Given the description of an element on the screen output the (x, y) to click on. 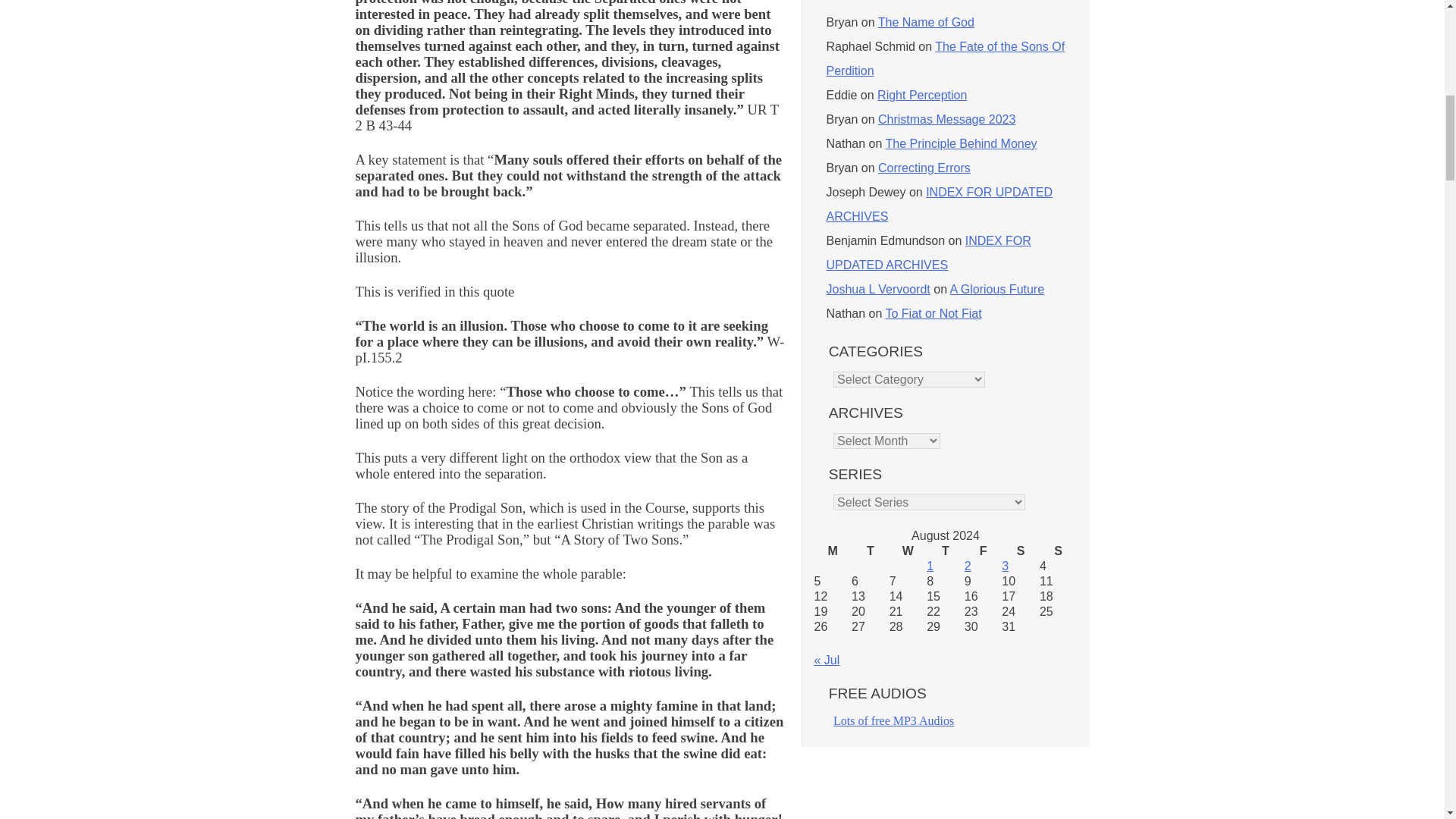
Saturday (1020, 550)
Wednesday (908, 550)
Sunday (1058, 550)
Friday (983, 550)
Monday (832, 550)
Tuesday (870, 550)
Thursday (944, 550)
